Given the description of an element on the screen output the (x, y) to click on. 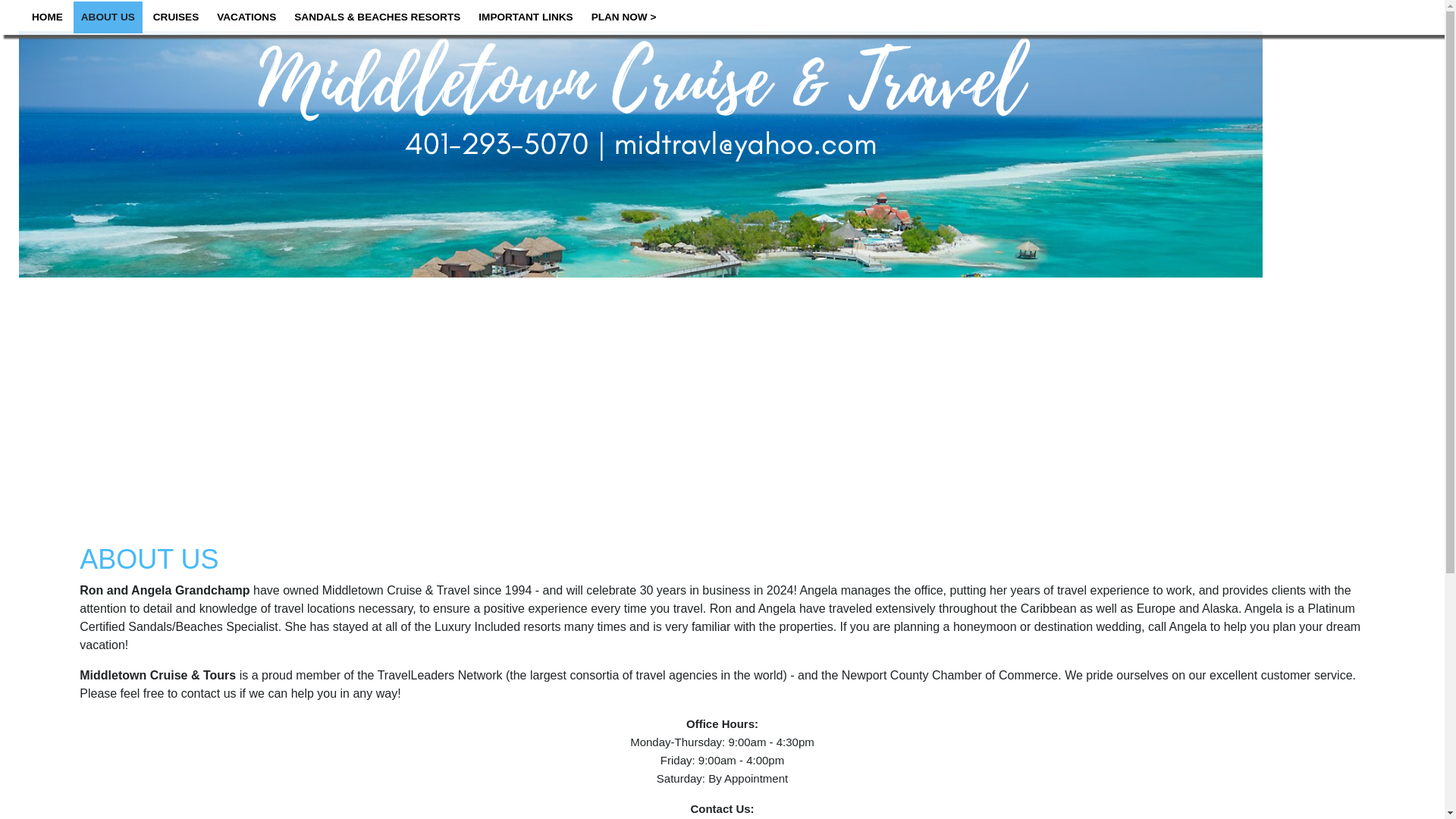
VACATIONS (246, 17)
CRUISES (175, 17)
HOME (46, 17)
IMPORTANT LINKS (524, 17)
ABOUT US (108, 17)
